Given the description of an element on the screen output the (x, y) to click on. 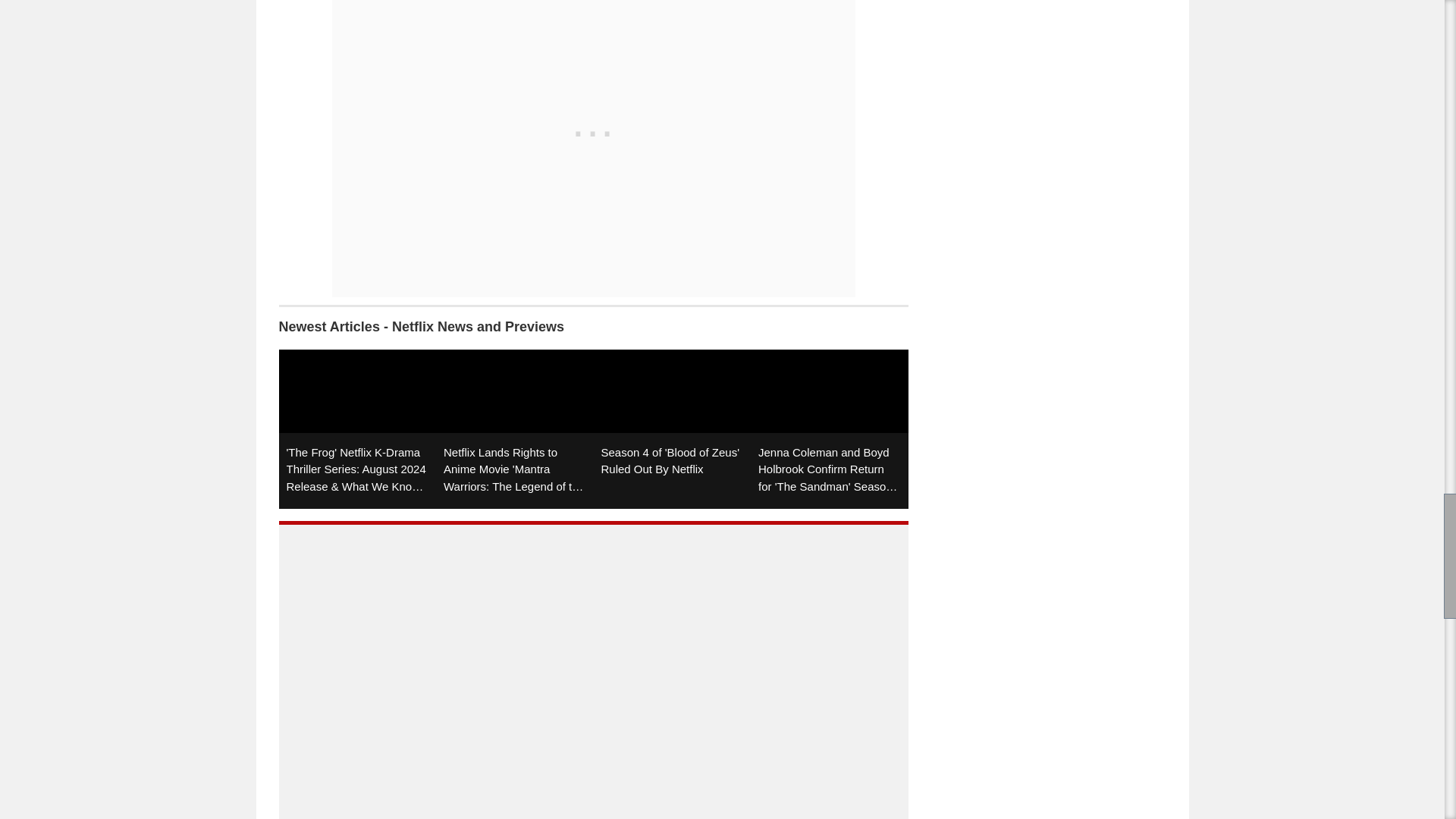
Season 4 of 'Blood of Zeus' Ruled Out By Netflix (671, 428)
Season 4 of 'Blood of Zeus' Ruled Out By Netflix (671, 428)
